Given the description of an element on the screen output the (x, y) to click on. 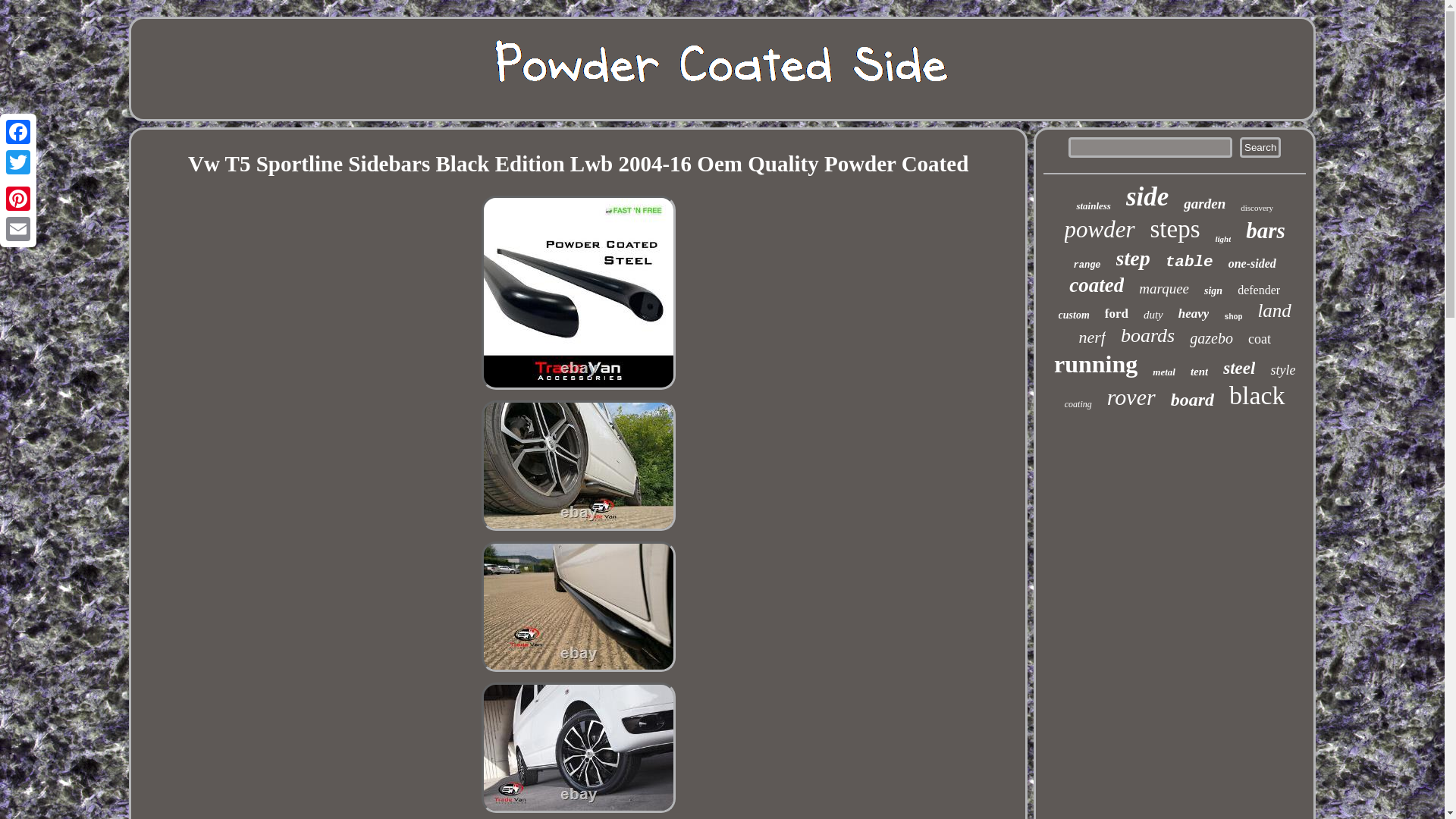
range (1087, 265)
powder (1099, 229)
Email (17, 228)
one-sided (1252, 264)
marquee (1163, 288)
step (1133, 258)
Search (1260, 147)
heavy (1193, 313)
garden (1204, 203)
steps (1174, 229)
coated (1096, 285)
Search (1260, 147)
